Given the description of an element on the screen output the (x, y) to click on. 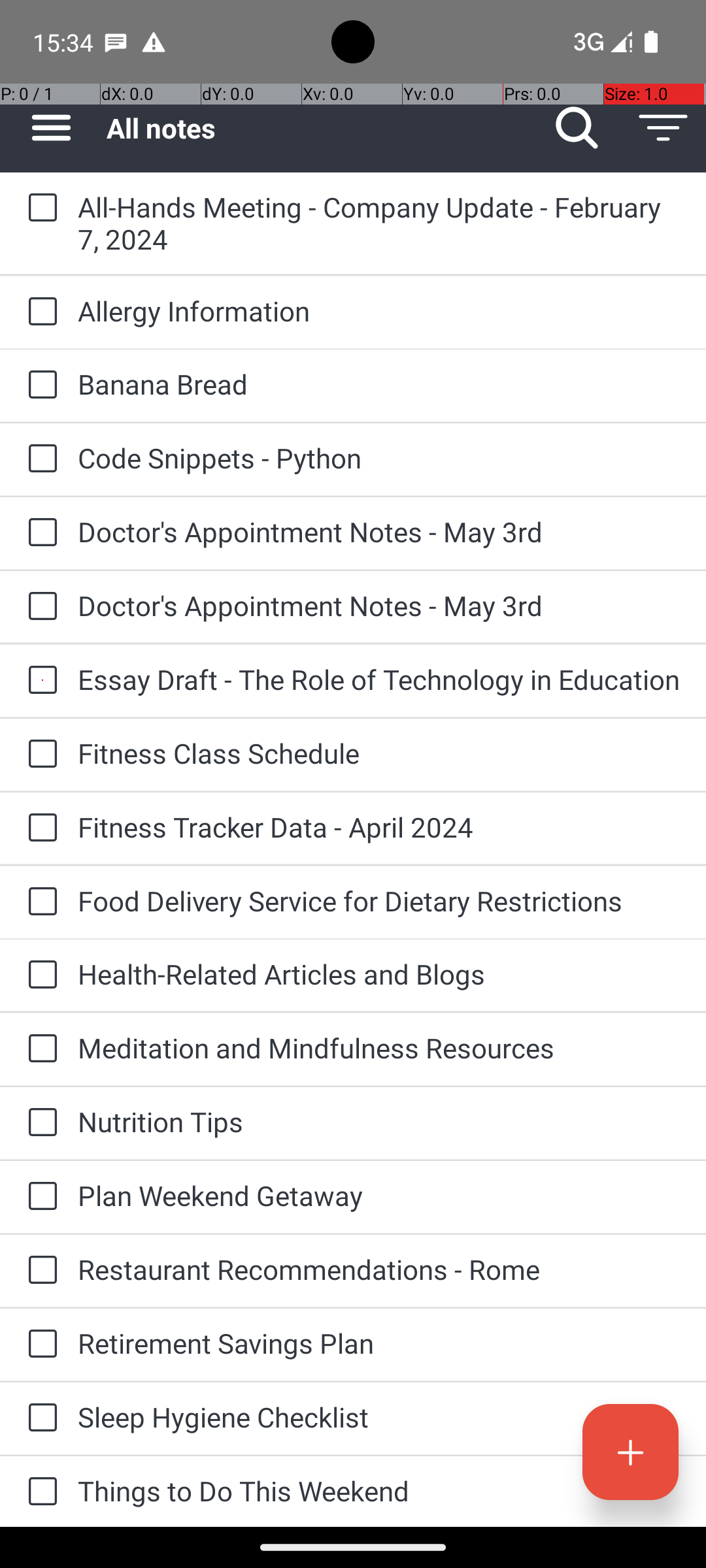
Sidebar Element type: android.widget.Button (44, 127)
All notes Element type: android.widget.TextView (320, 127)
Sort notes by Element type: android.widget.Button (663, 127)
Add new, collapsed Element type: android.widget.Button (630, 1452)
 Element type: android.widget.TextView (51, 127)
 Element type: android.widget.TextView (576, 127)
 Element type: android.widget.TextView (663, 127)
 Element type: android.widget.TextView (630, 1451)
to-do: All-Hands Meeting - Company Update - February 7, 2024 Element type: android.widget.CheckBox (38, 208)
All-Hands Meeting - Company Update - February 7, 2024 Element type: android.widget.TextView (378, 222)
to-do: Allergy Information Element type: android.widget.CheckBox (38, 312)
Allergy Information Element type: android.widget.TextView (378, 310)
to-do: Banana Bread Element type: android.widget.CheckBox (38, 385)
Banana Bread Element type: android.widget.TextView (378, 383)
to-do: Code Snippets - Python Element type: android.widget.CheckBox (38, 459)
Code Snippets - Python Element type: android.widget.TextView (378, 457)
to-do: Doctor's Appointment Notes - May 3rd Element type: android.widget.CheckBox (38, 533)
Doctor's Appointment Notes - May 3rd Element type: android.widget.TextView (378, 531)
to-do: Essay Draft - The Role of Technology in Education Element type: android.widget.CheckBox (38, 680)
Essay Draft - The Role of Technology in Education Element type: android.widget.TextView (378, 678)
to-do: Fitness Class Schedule Element type: android.widget.CheckBox (38, 754)
Fitness Class Schedule Element type: android.widget.TextView (378, 752)
to-do: Fitness Tracker Data - April 2024 Element type: android.widget.CheckBox (38, 828)
Fitness Tracker Data - April 2024 Element type: android.widget.TextView (378, 826)
to-do: Food Delivery Service for Dietary Restrictions Element type: android.widget.CheckBox (38, 902)
Food Delivery Service for Dietary Restrictions Element type: android.widget.TextView (378, 900)
to-do: Health-Related Articles and Blogs Element type: android.widget.CheckBox (38, 975)
Health-Related Articles and Blogs Element type: android.widget.TextView (378, 973)
to-do: Meditation and Mindfulness Resources Element type: android.widget.CheckBox (38, 1049)
Meditation and Mindfulness Resources Element type: android.widget.TextView (378, 1047)
to-do: Nutrition Tips Element type: android.widget.CheckBox (38, 1123)
Nutrition Tips Element type: android.widget.TextView (378, 1121)
to-do: Plan Weekend Getaway Element type: android.widget.CheckBox (38, 1196)
Plan Weekend Getaway Element type: android.widget.TextView (378, 1194)
to-do: Restaurant Recommendations - Rome Element type: android.widget.CheckBox (38, 1270)
Restaurant Recommendations - Rome Element type: android.widget.TextView (378, 1268)
to-do: Retirement Savings Plan Element type: android.widget.CheckBox (38, 1344)
Retirement Savings Plan Element type: android.widget.TextView (378, 1342)
to-do: Sleep Hygiene Checklist Element type: android.widget.CheckBox (38, 1418)
Sleep Hygiene Checklist Element type: android.widget.TextView (378, 1416)
to-do: Things to Do This Weekend Element type: android.widget.CheckBox (38, 1491)
Things to Do This Weekend Element type: android.widget.TextView (378, 1490)
